Given the description of an element on the screen output the (x, y) to click on. 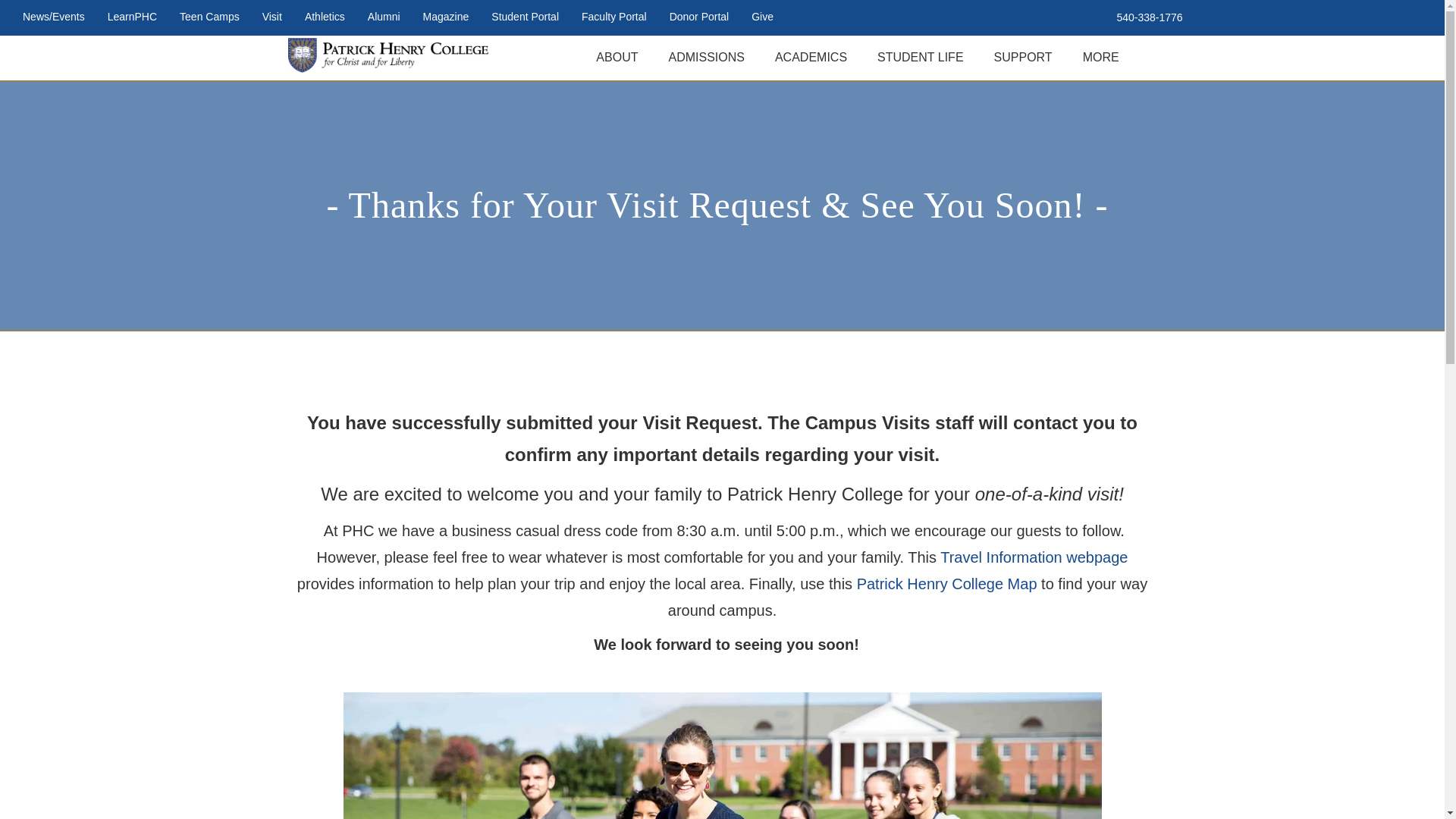
Faculty Portal (614, 16)
Visit (272, 16)
Magazine (446, 16)
Student Portal (525, 16)
ABOUT (616, 58)
LearnPHC (132, 16)
Athletics (325, 16)
Donor Portal (699, 16)
Teen Camps (209, 16)
Give (761, 16)
